Given the description of an element on the screen output the (x, y) to click on. 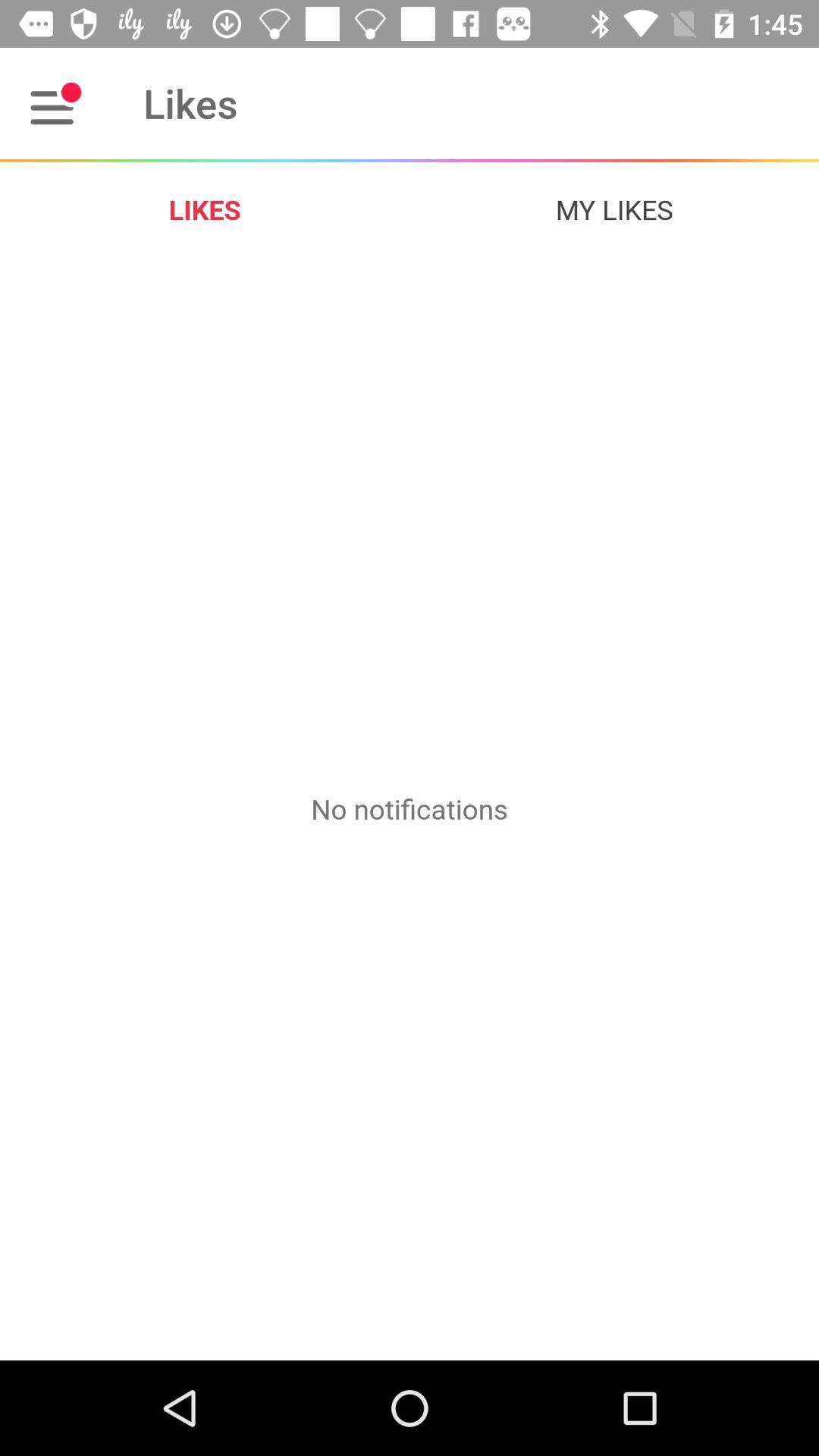
select item to the right of likes item (614, 209)
